Given the description of an element on the screen output the (x, y) to click on. 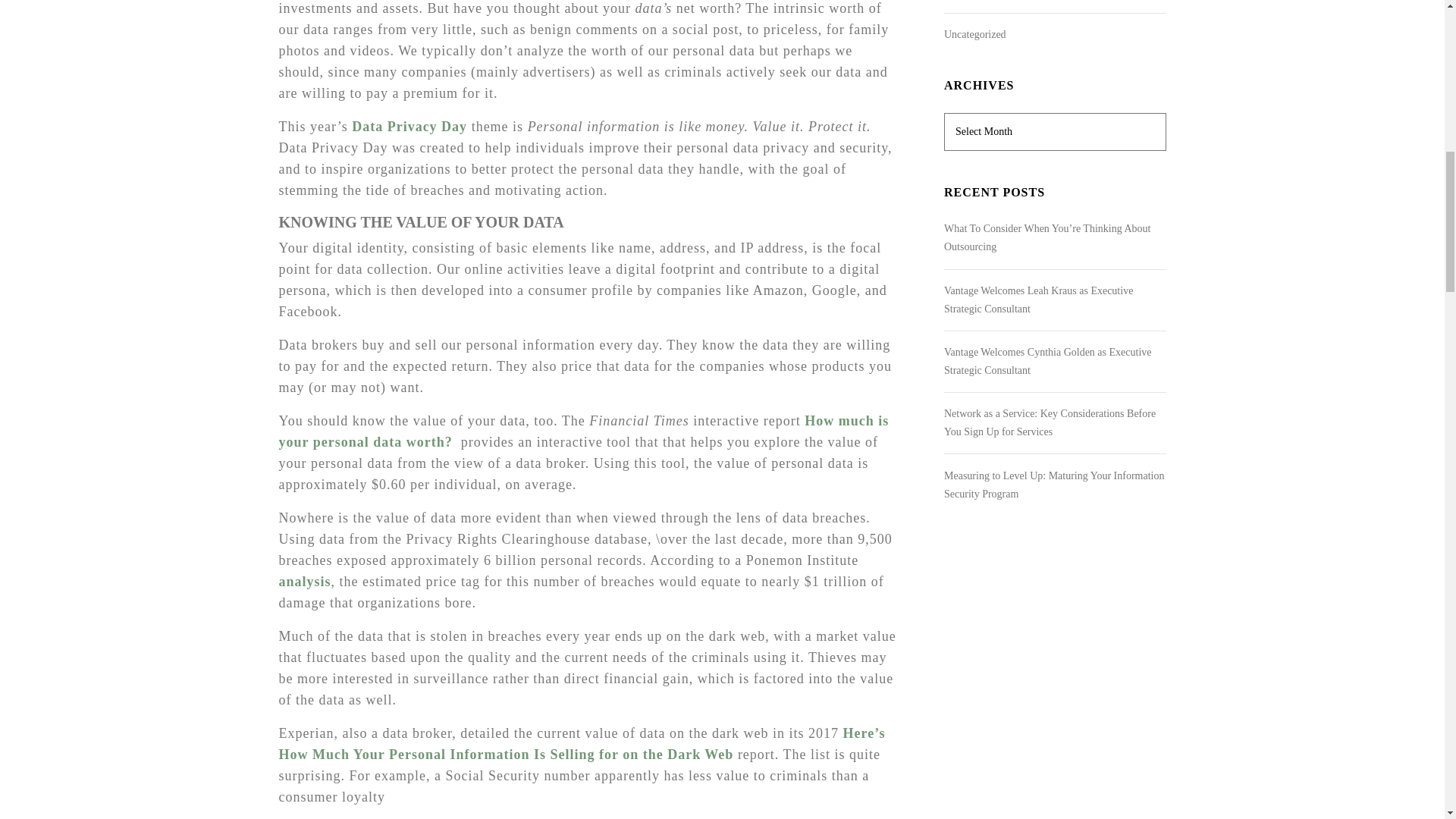
Data Privacy Day (409, 126)
analysis (305, 581)
How much is your personal data worth? (584, 431)
